Given the description of an element on the screen output the (x, y) to click on. 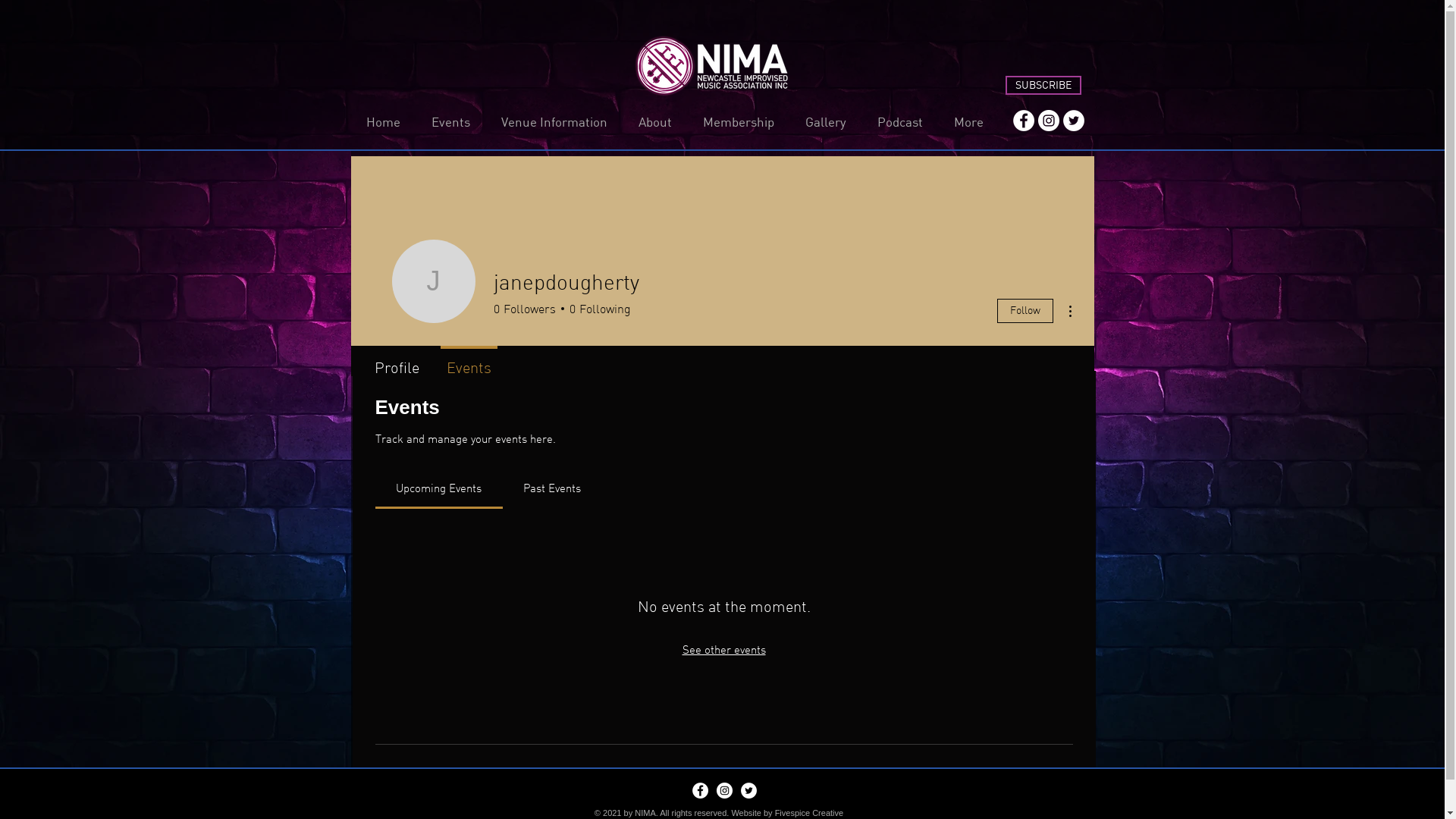
Follow Element type: text (1024, 310)
Membership Element type: text (738, 121)
0
Following Element type: text (597, 308)
SUBSCRIBE Element type: text (1043, 84)
Events Element type: text (468, 360)
NIMA Element type: text (644, 812)
Profile Element type: text (396, 360)
About Element type: text (655, 121)
Home Element type: text (382, 121)
0
Followers Element type: text (523, 308)
Podcast Element type: text (899, 121)
See other events Element type: text (723, 649)
Gallery Element type: text (826, 121)
Venue Information Element type: text (553, 121)
NIMA-Logo-Horizontal-Mono-Reversed.png Element type: hover (711, 66)
